Given the description of an element on the screen output the (x, y) to click on. 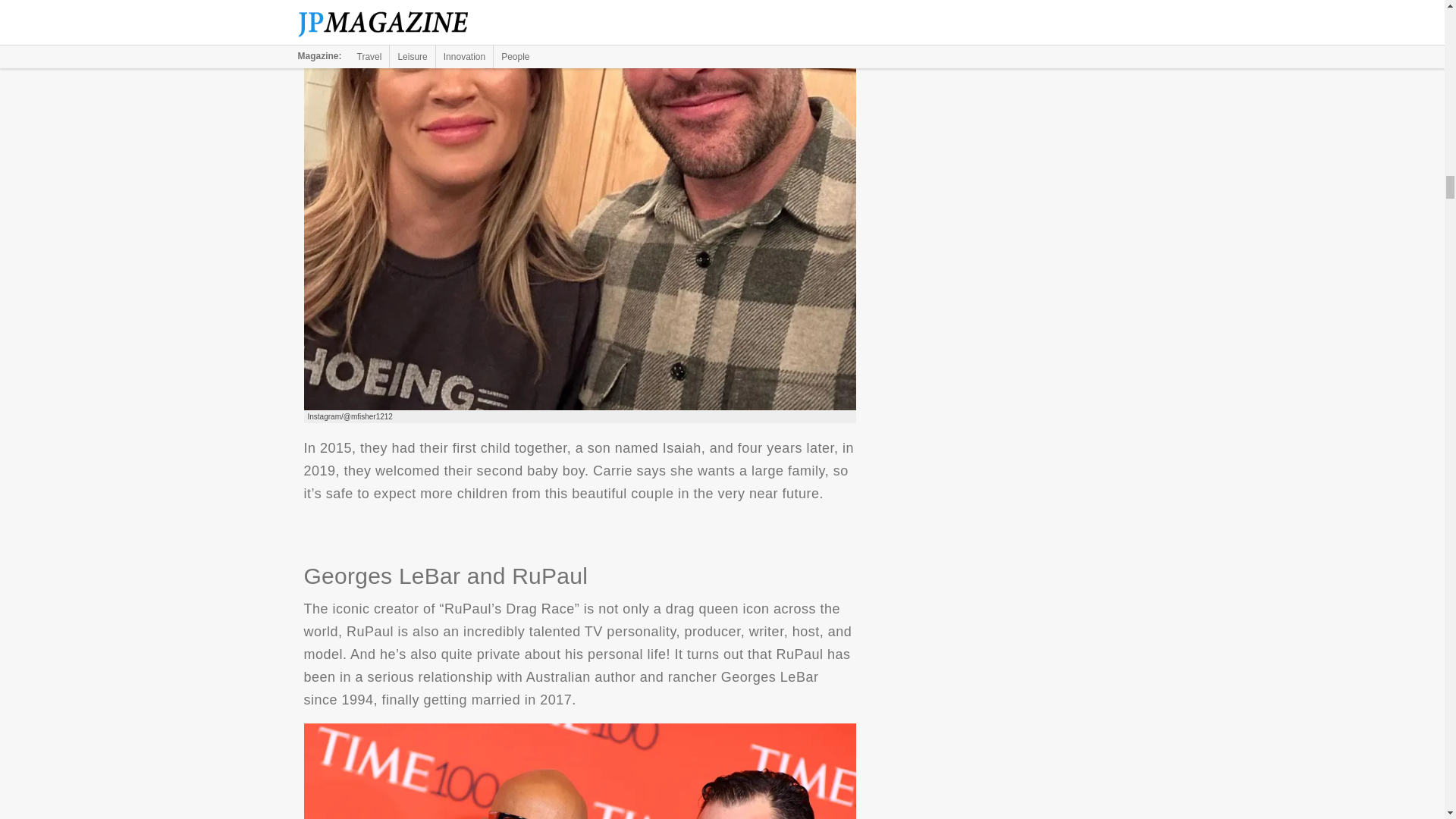
Georges LeBar and RuPaul (579, 771)
